Given the description of an element on the screen output the (x, y) to click on. 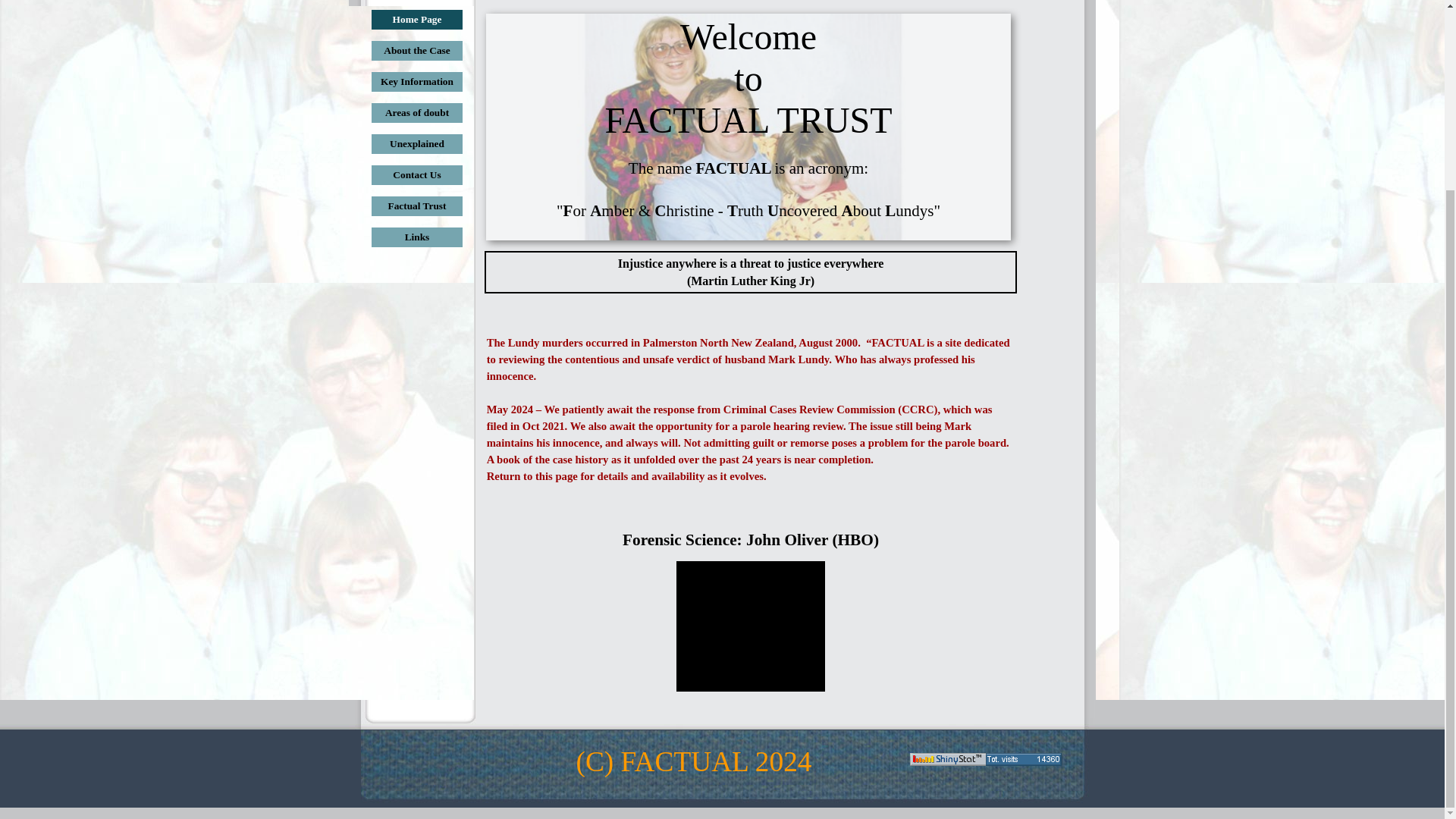
Links (417, 237)
Areas of doubt (417, 112)
Home Page (417, 19)
Key Information (417, 81)
About the Case (417, 50)
Factual Trust (417, 206)
Unexplained (417, 143)
Contact Us (417, 175)
